Given the description of an element on the screen output the (x, y) to click on. 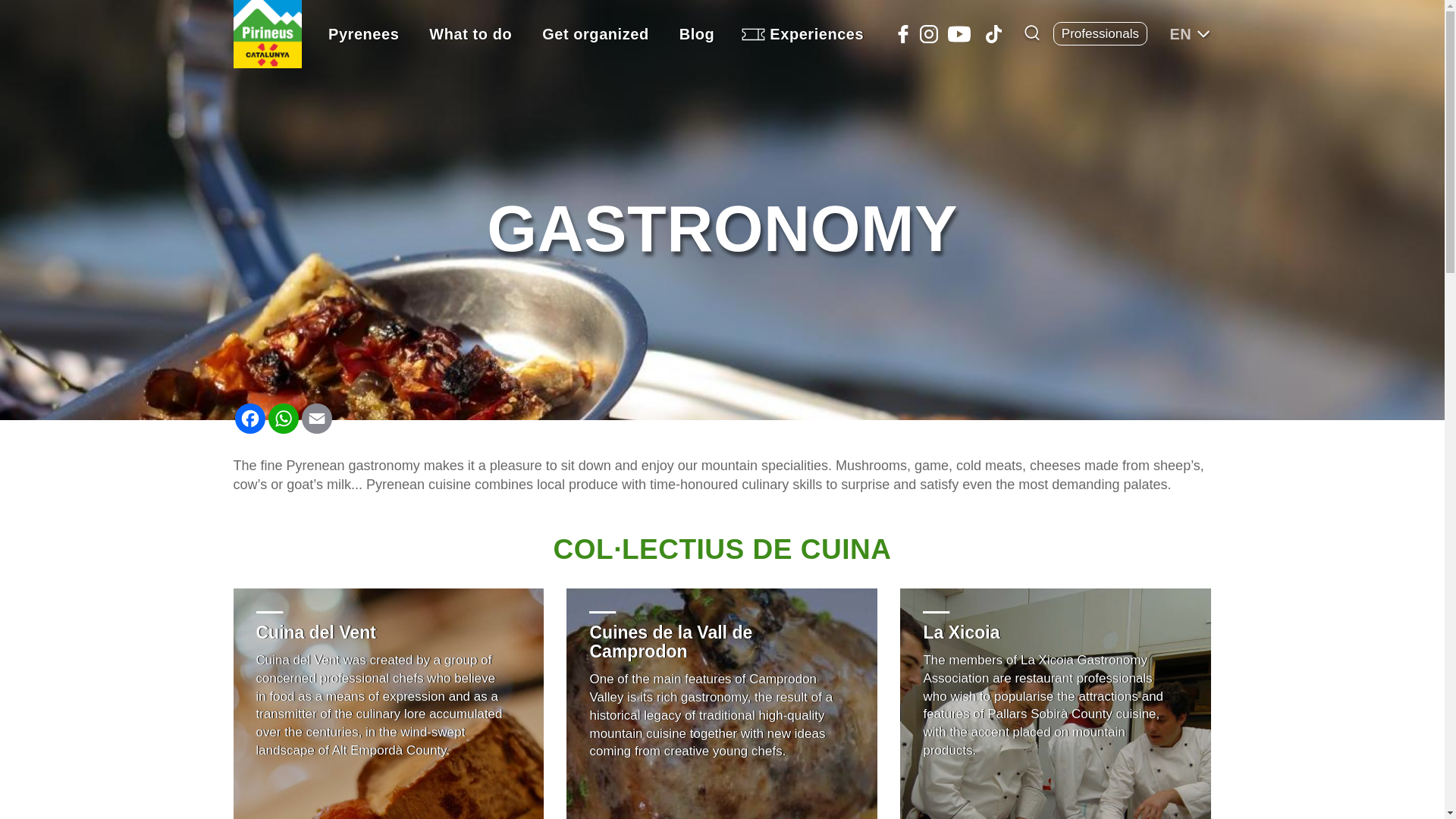
Email (316, 418)
Whatsapp (282, 418)
Home (267, 33)
Facebook (902, 34)
Pyrenees (363, 33)
Youtube (958, 34)
Facebook (249, 418)
Professionals (1099, 33)
Instagram (928, 34)
TikTok (993, 34)
